Given the description of an element on the screen output the (x, y) to click on. 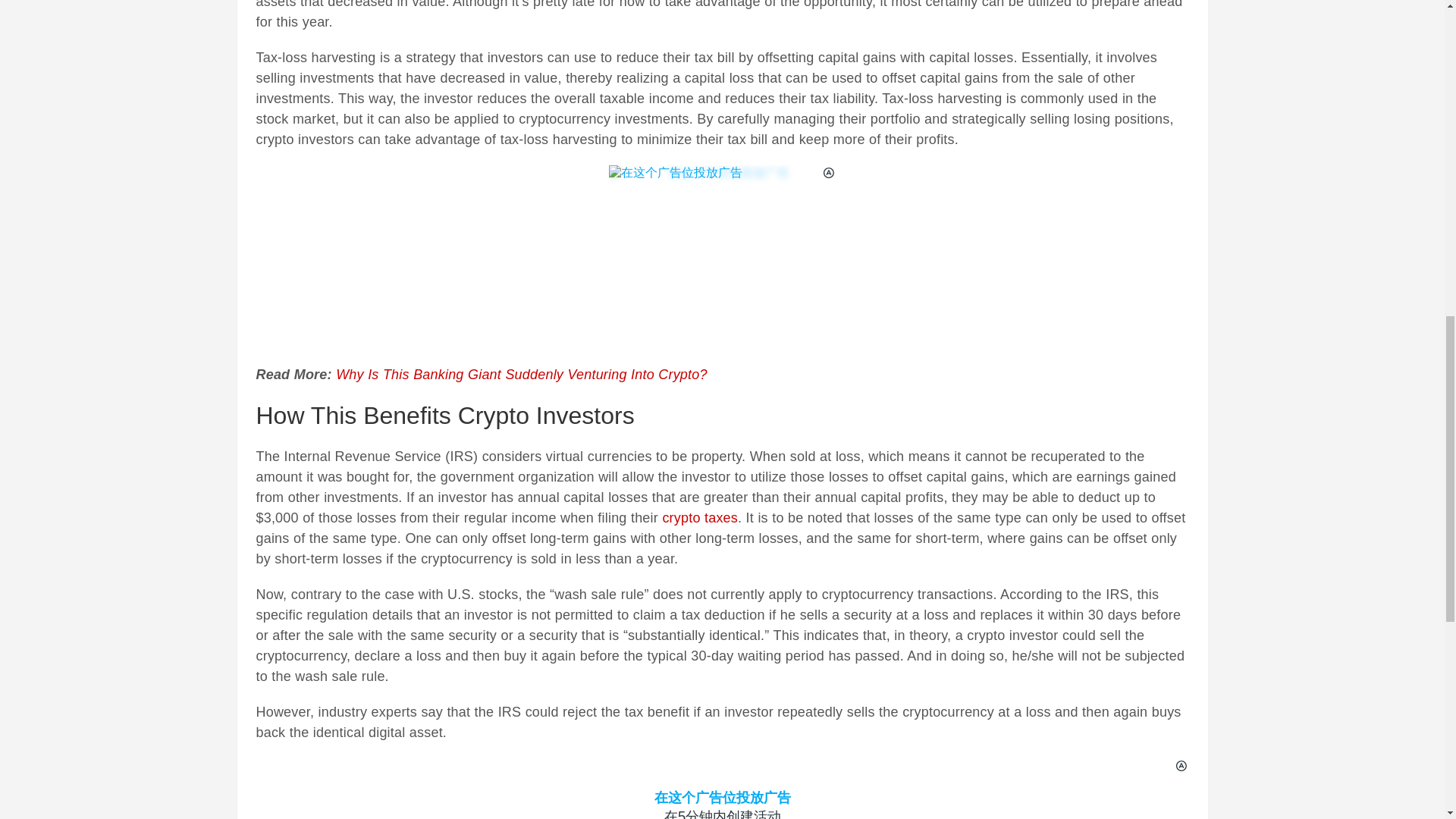
Why Is This Banking Giant Suddenly Venturing Into Crypto? (521, 374)
Why Is This Banking Giant Suddenly Venturing Into Crypto? (521, 374)
crypto taxes (700, 517)
